Given the description of an element on the screen output the (x, y) to click on. 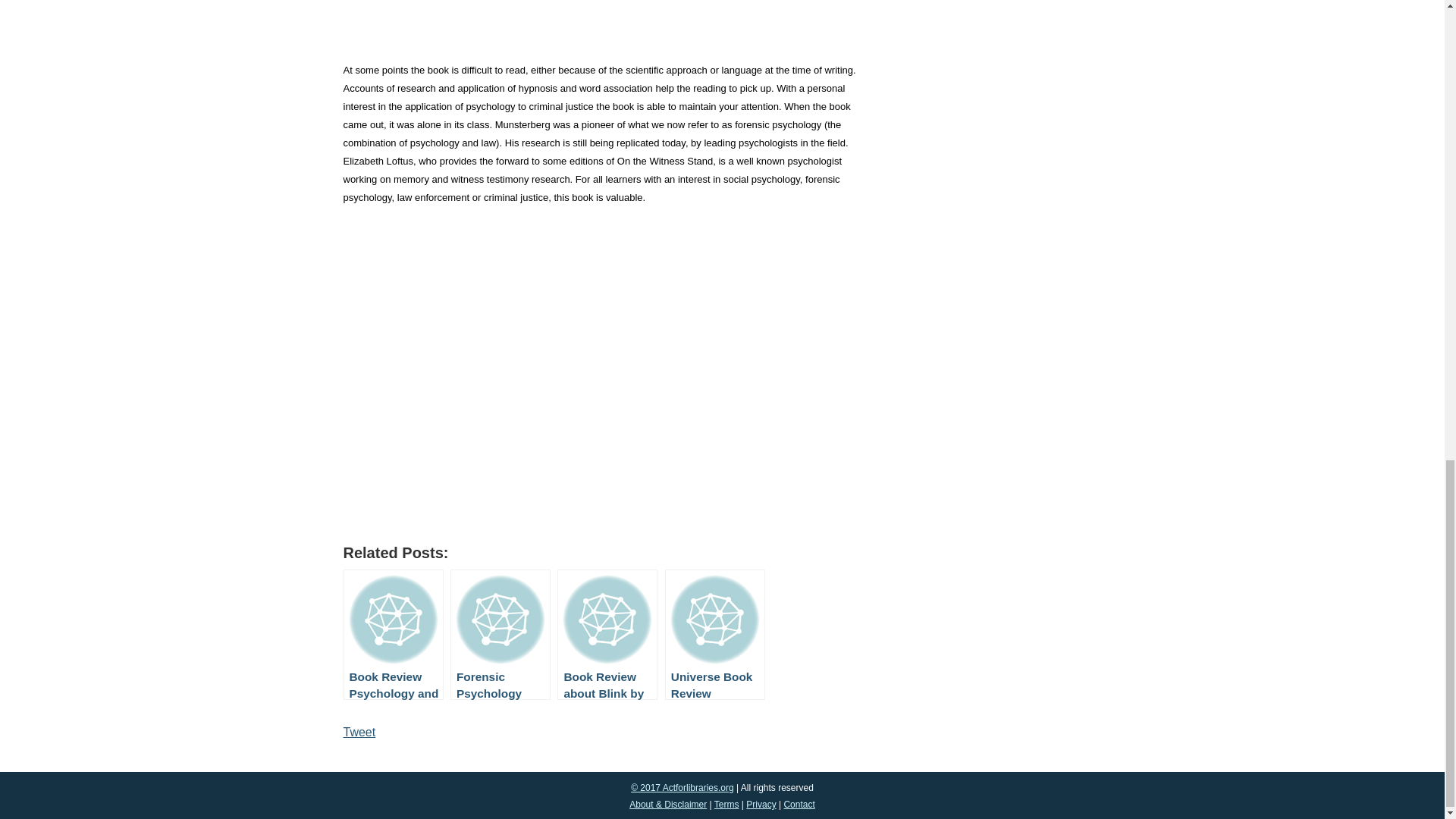
Privacy (760, 804)
Terms (726, 804)
Tweet (358, 731)
Contact (798, 804)
Advertisement (600, 27)
